Given the description of an element on the screen output the (x, y) to click on. 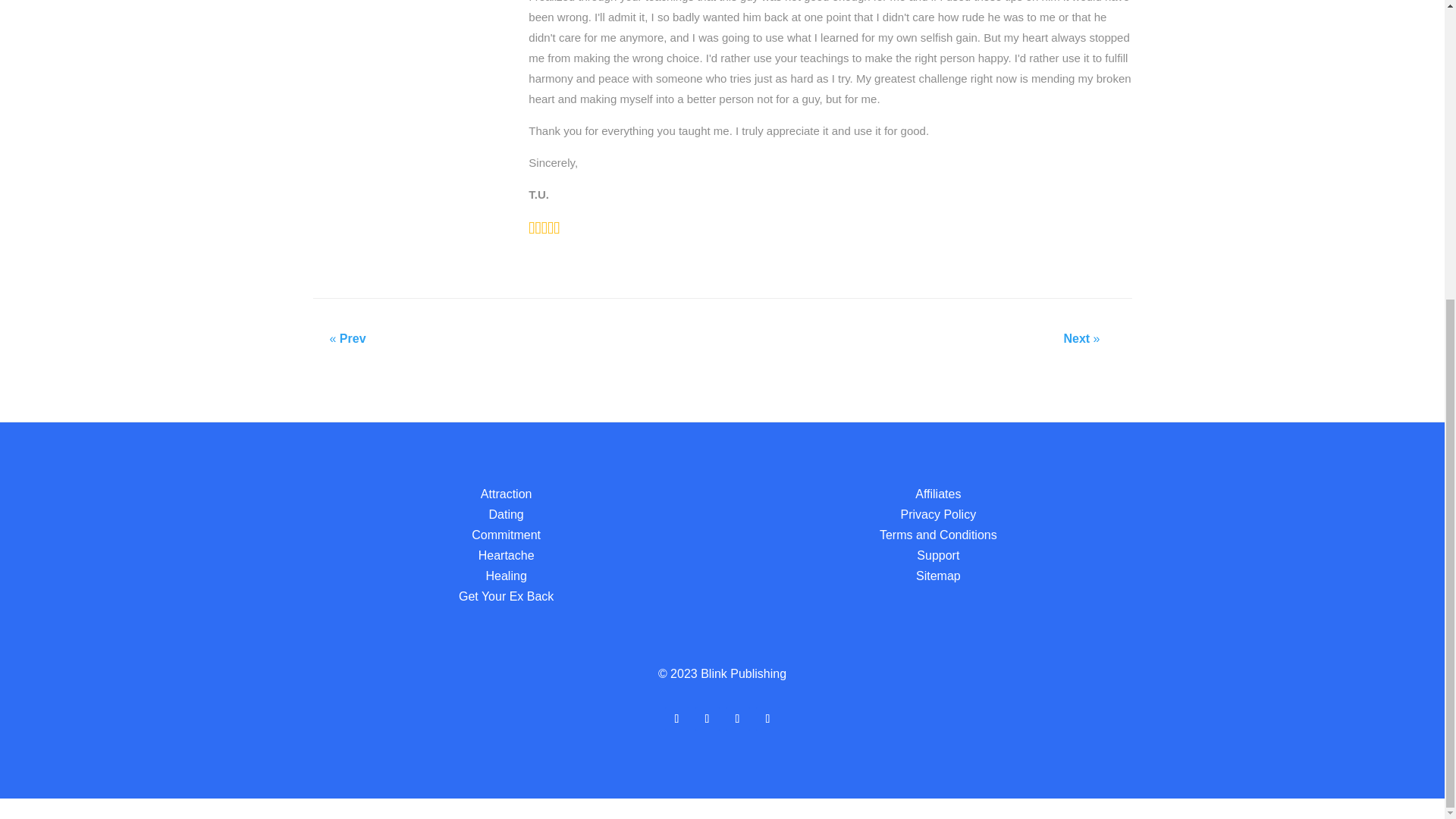
Heartache (506, 554)
Commitment (505, 534)
Follow on Facebook (675, 718)
Follow on X (706, 718)
Healing (506, 575)
Follow on RSS (766, 718)
Support (938, 554)
Attraction (506, 492)
Sitemap (937, 575)
Dating (506, 513)
Commitment (505, 534)
Privacy Policy (938, 513)
Follow on Pinterest (737, 718)
Affiliates (937, 492)
Blink Publishing (743, 673)
